Given the description of an element on the screen output the (x, y) to click on. 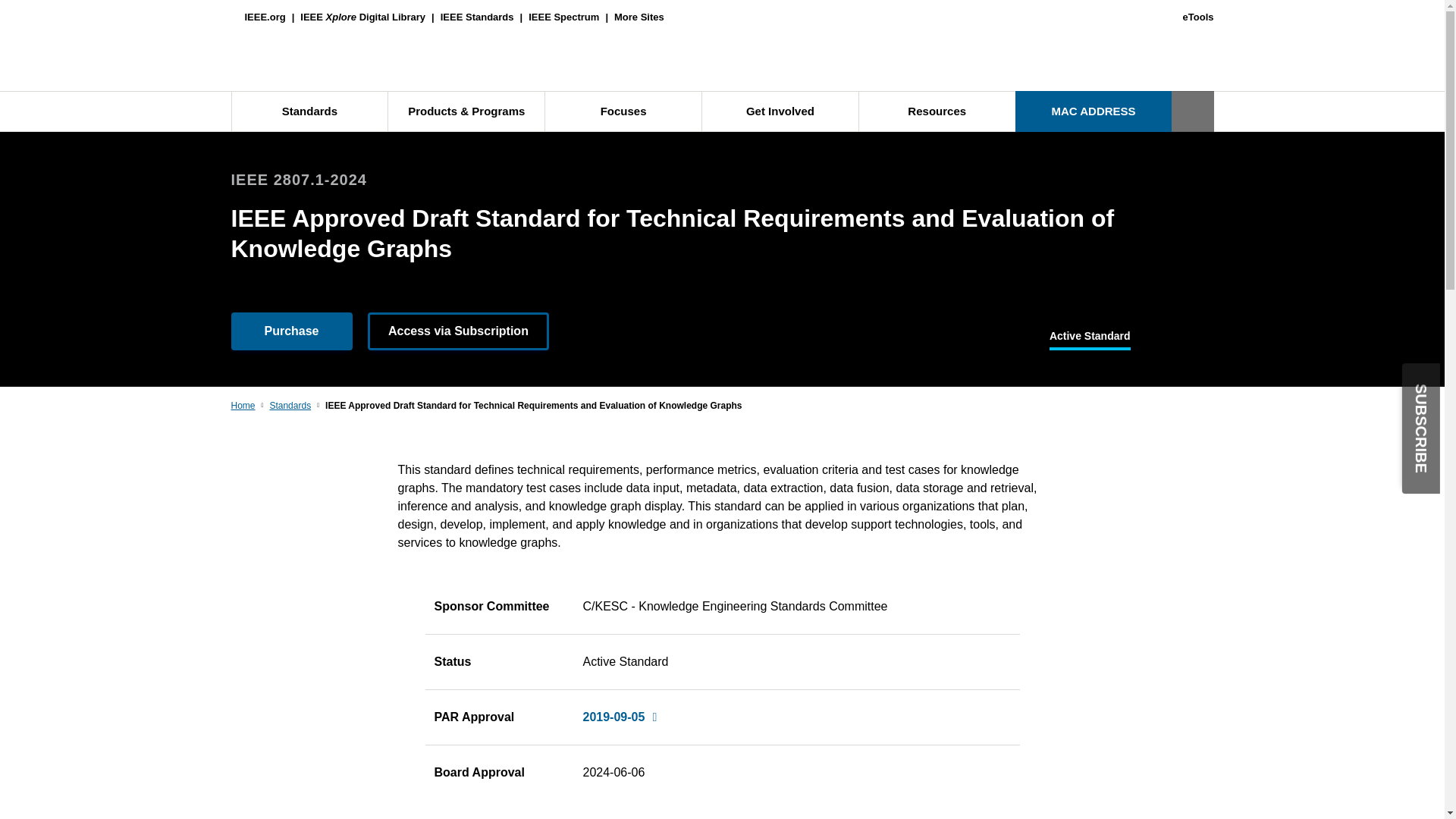
Get Involved (780, 111)
IEEE Standards (477, 17)
IEEE Spectrum (563, 17)
IEEE Xplore Digital Library (362, 17)
More Sites (638, 17)
eTools (1198, 17)
Focuses (622, 111)
IEEE.org (257, 17)
Standards (308, 111)
Resources (936, 111)
IEEE Standards (477, 17)
IEEE Spectrum (563, 17)
IEEE.org (257, 17)
